Given the description of an element on the screen output the (x, y) to click on. 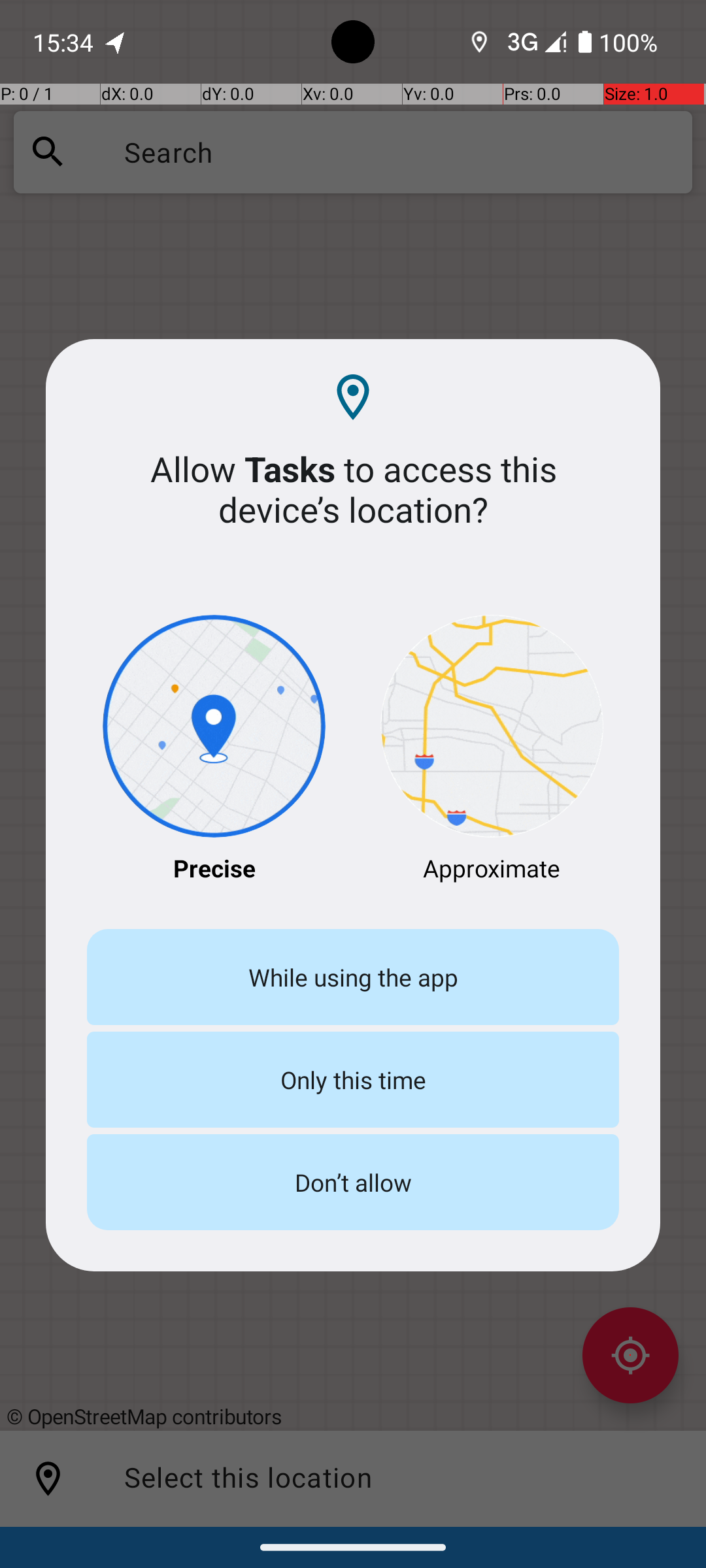
Allow Tasks to access this device’s location? Element type: android.widget.TextView (352, 488)
While using the app Element type: android.widget.Button (352, 977)
Only this time Element type: android.widget.Button (352, 1079)
Precise Element type: android.widget.RadioButton (213, 749)
Approximate Element type: android.widget.RadioButton (491, 749)
